Given the description of an element on the screen output the (x, y) to click on. 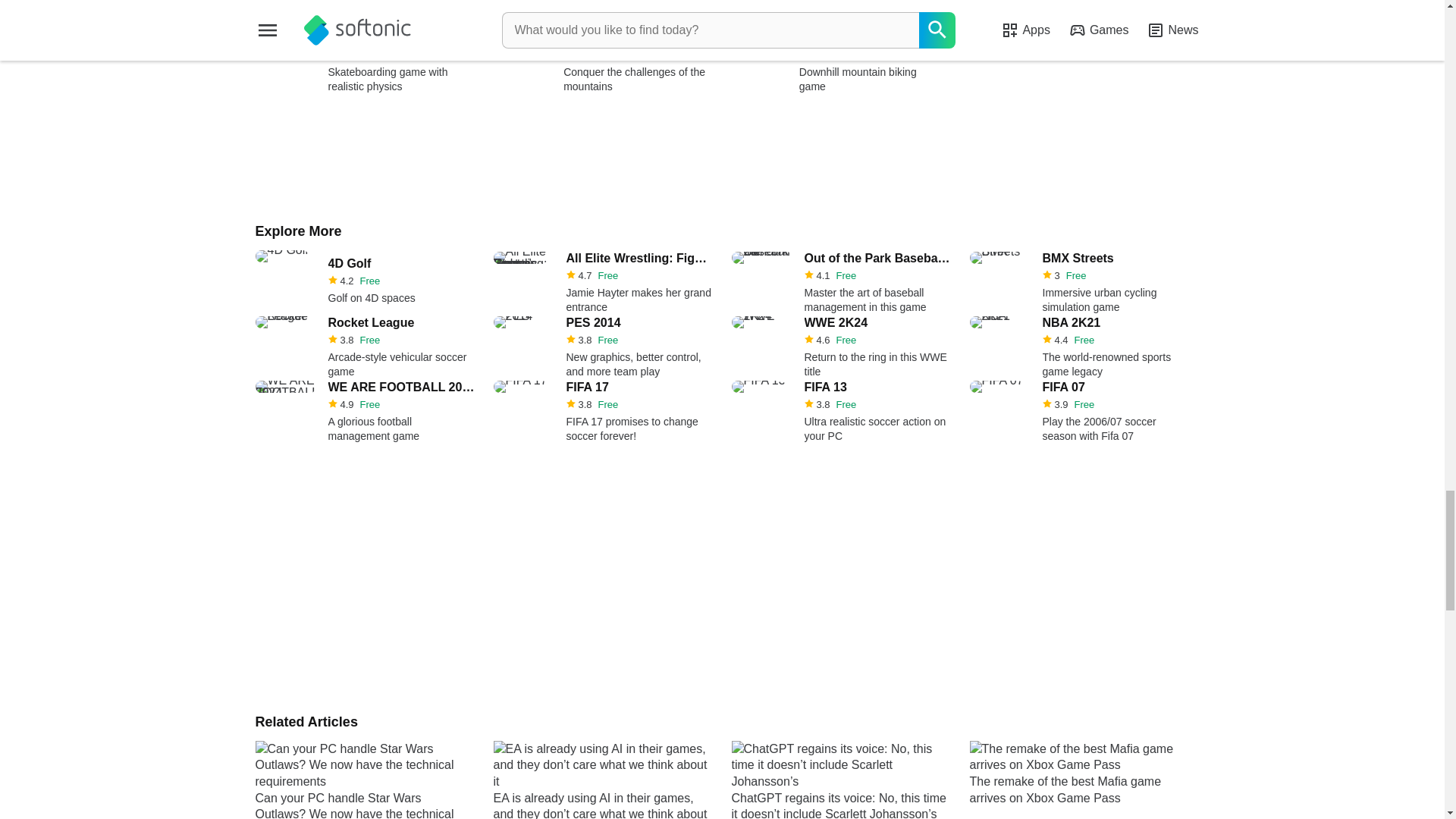
The remake of the best Mafia game arrives on Xbox Game Pass (1078, 780)
